Given the description of an element on the screen output the (x, y) to click on. 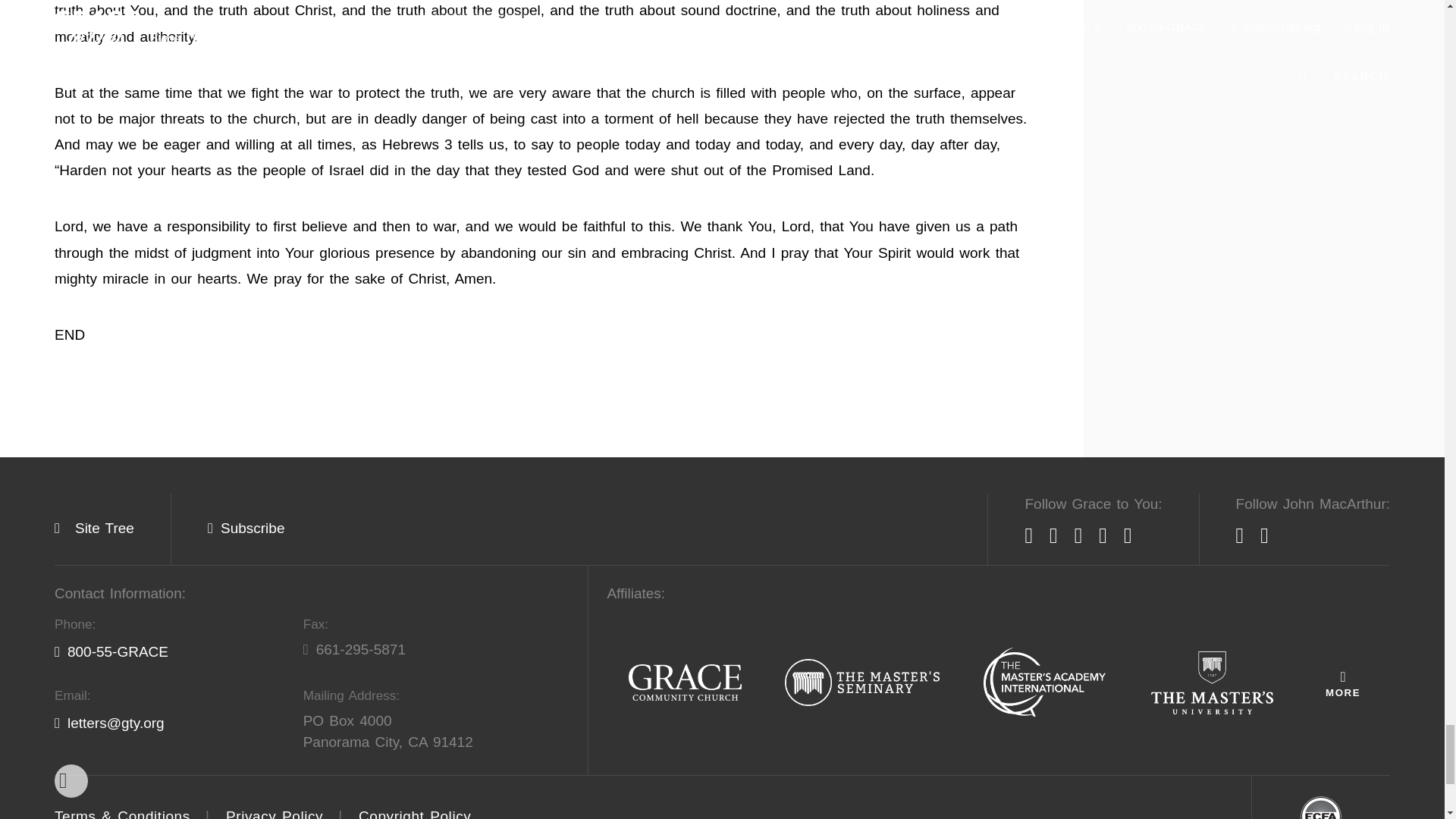
More Affiliates (1341, 683)
The Master' Seminary (862, 683)
Grace Community Church (684, 683)
The Master' University (1211, 683)
The Master' Academy International (1044, 683)
